Given the description of an element on the screen output the (x, y) to click on. 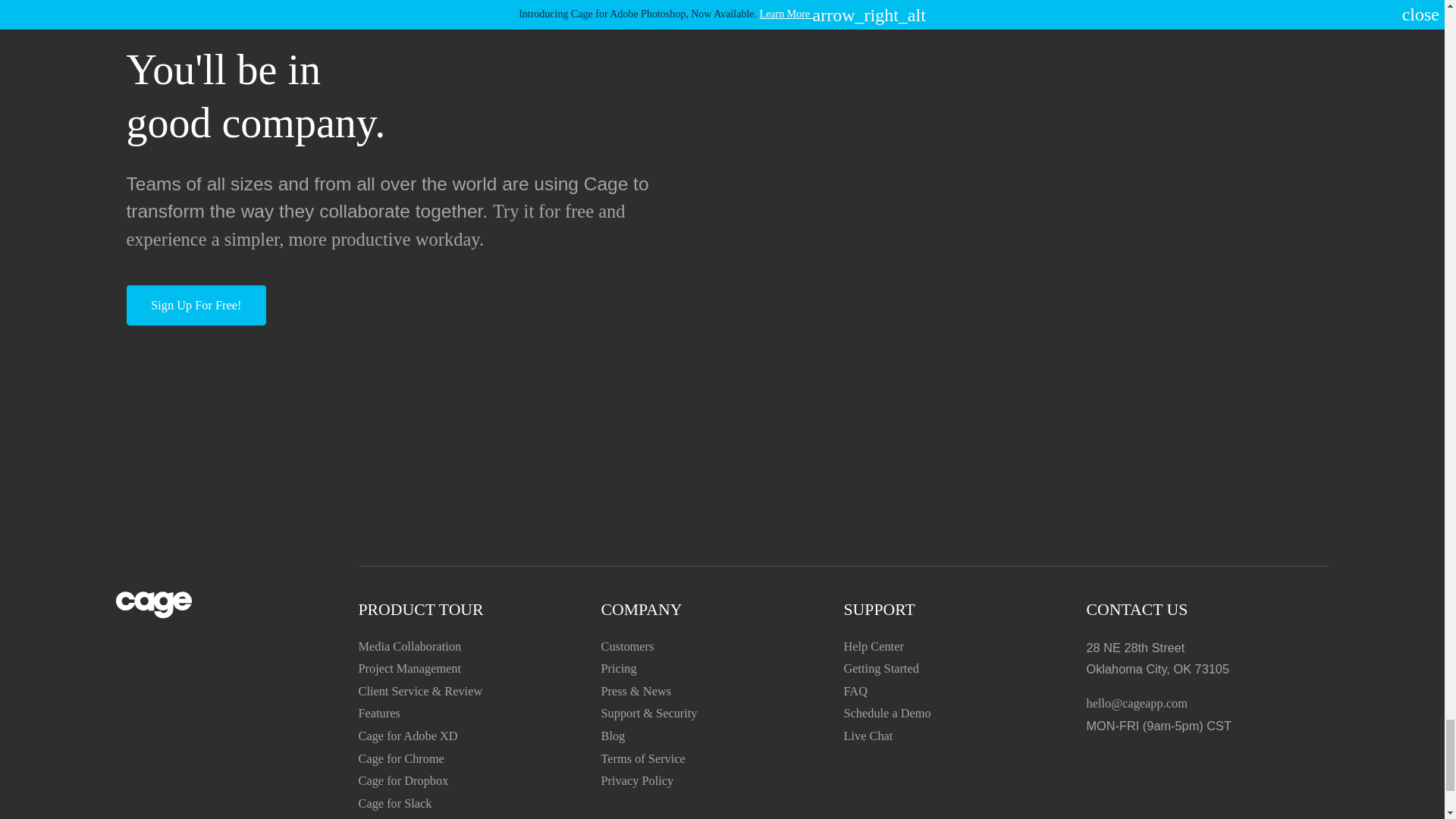
Features (378, 713)
Cage Chrome Extension (401, 758)
Blog (611, 735)
Cage for Slack (394, 803)
Customers (626, 646)
FAQ (854, 690)
Getting Started (880, 668)
Cage for Adobe XD (407, 735)
Sign Up For Free! (195, 305)
Project Management (409, 668)
Project Management (409, 668)
Cage for Dropbox (403, 780)
Terms of Service (641, 758)
Pricing (617, 668)
Media Collaboration (409, 646)
